Given the description of an element on the screen output the (x, y) to click on. 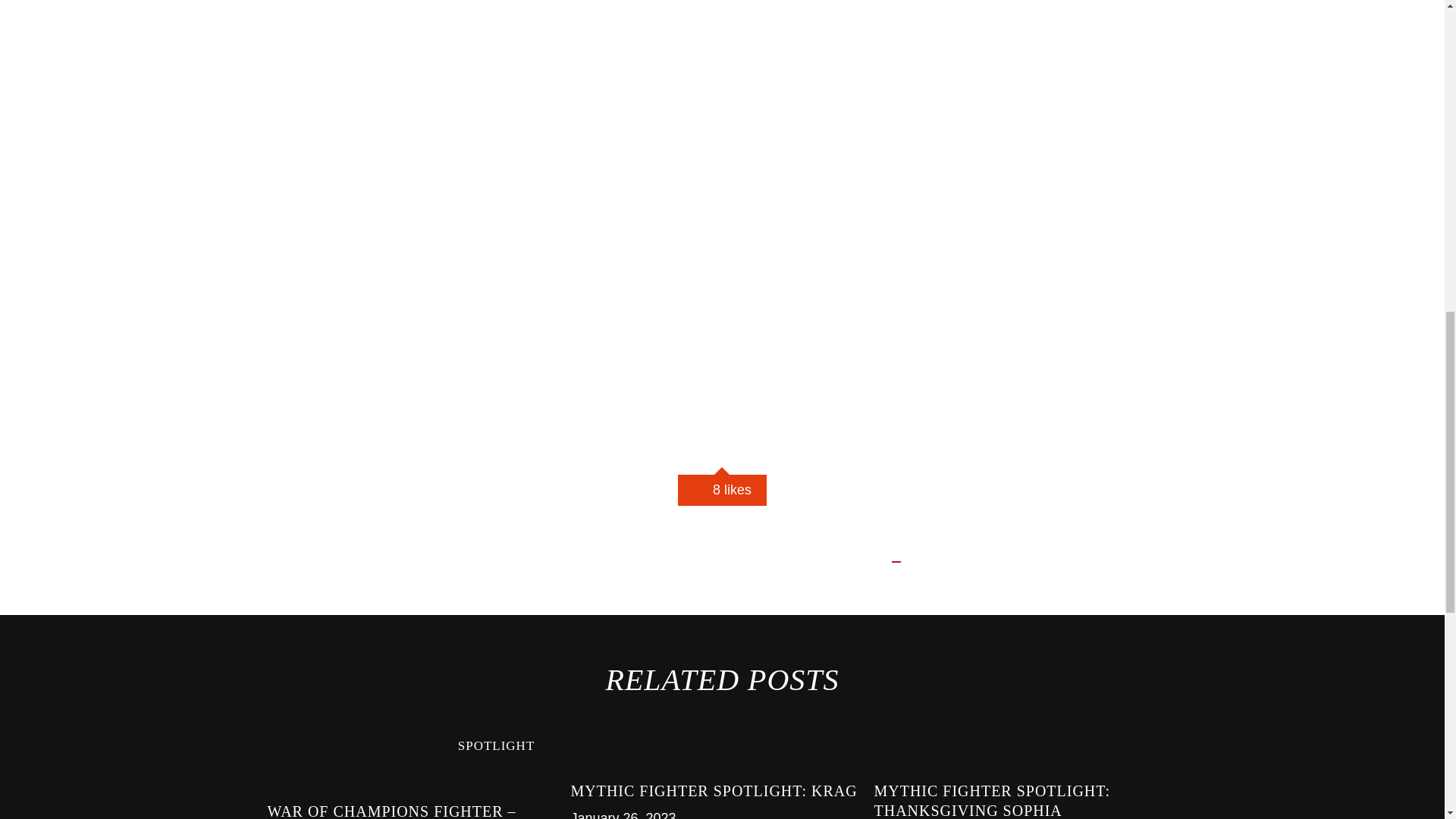
Like this (722, 490)
MYTHIC FIGHTER SPOTLIGHT: KRAG (713, 790)
NEXT POST (957, 560)
SPOTLIGHT (496, 745)
8 likes (722, 490)
MYTHIC FIGHTER SPOTLIGHT: THANKSGIVING SOPHIA (991, 800)
PREVIOUS POST (817, 560)
